Given the description of an element on the screen output the (x, y) to click on. 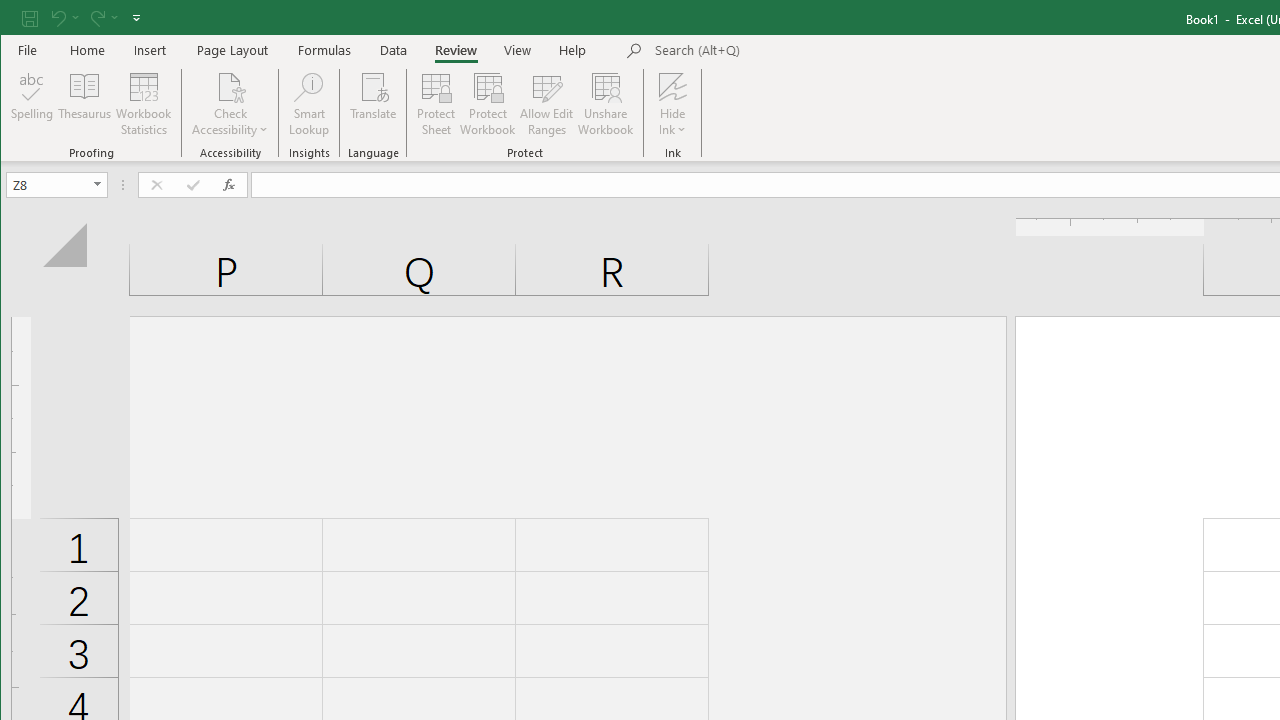
Protect Sheet... (436, 104)
Workbook Statistics (143, 104)
Hide Ink (672, 86)
Translate (373, 104)
Check Accessibility (230, 86)
